Given the description of an element on the screen output the (x, y) to click on. 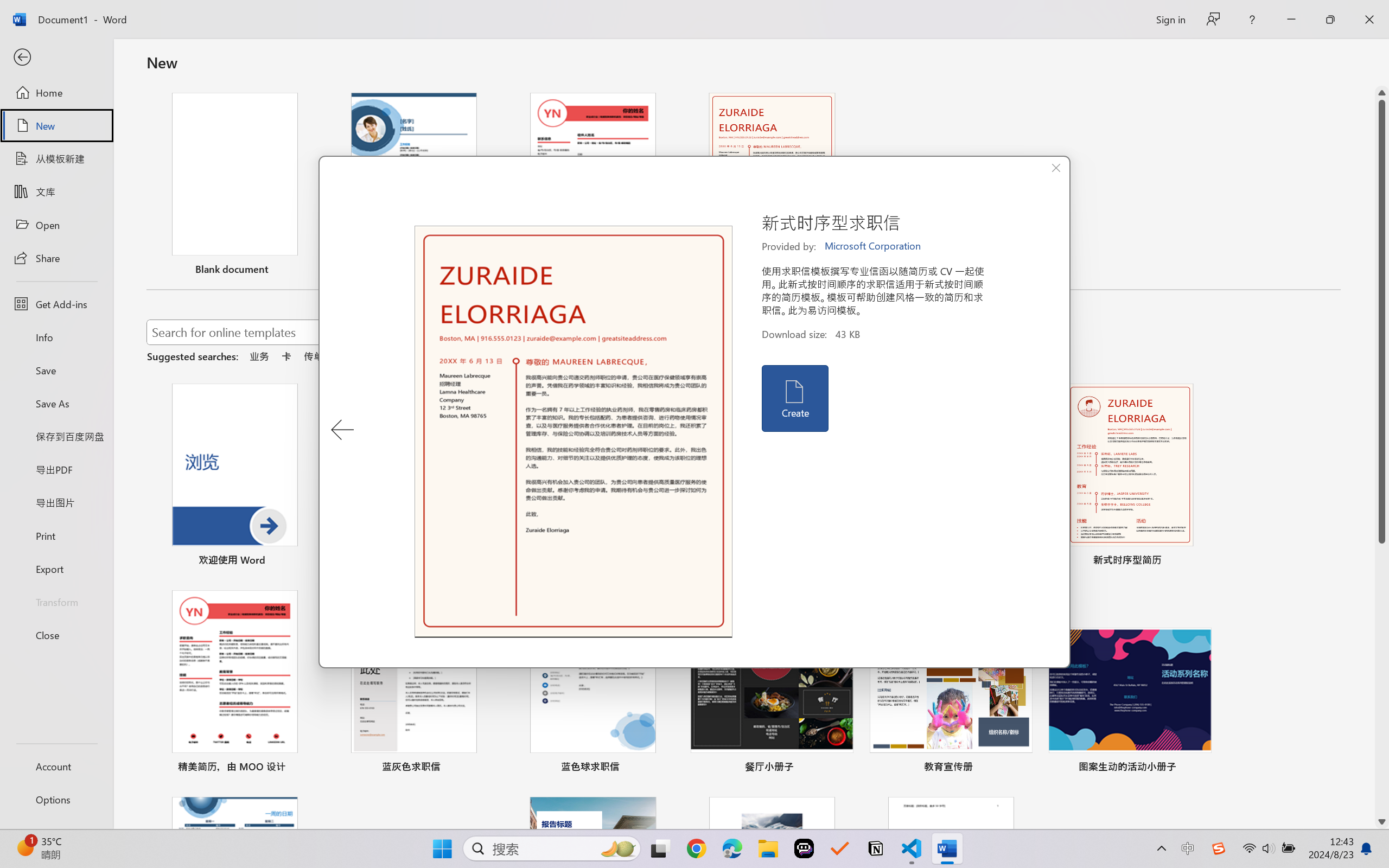
Print (56, 535)
Back (56, 57)
Microsoft Corporation (873, 246)
